Given the description of an element on the screen output the (x, y) to click on. 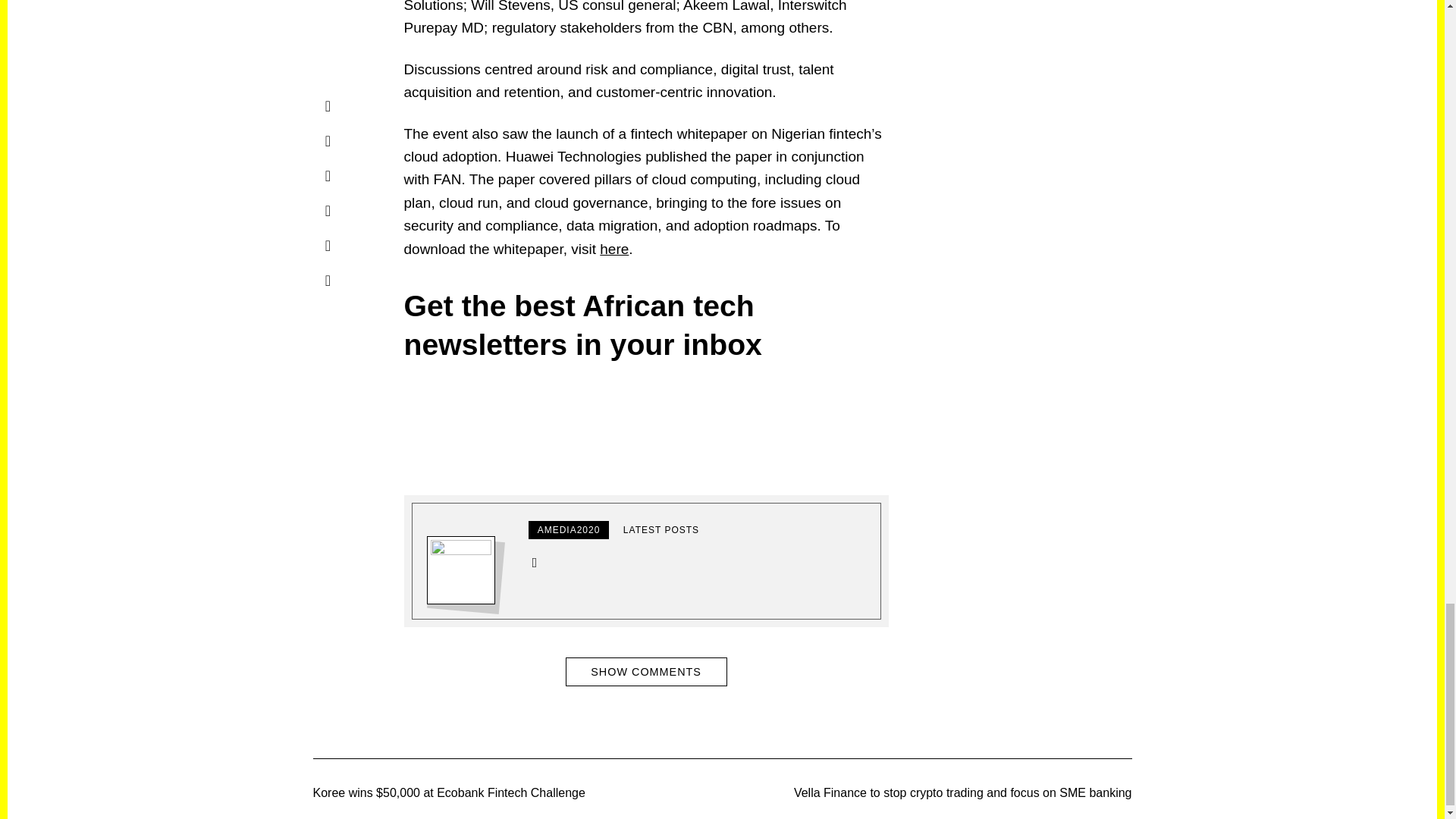
SHOW COMMENTS (646, 671)
AMEDIA2020 (569, 529)
LATEST POSTS (660, 529)
here (613, 248)
